Given the description of an element on the screen output the (x, y) to click on. 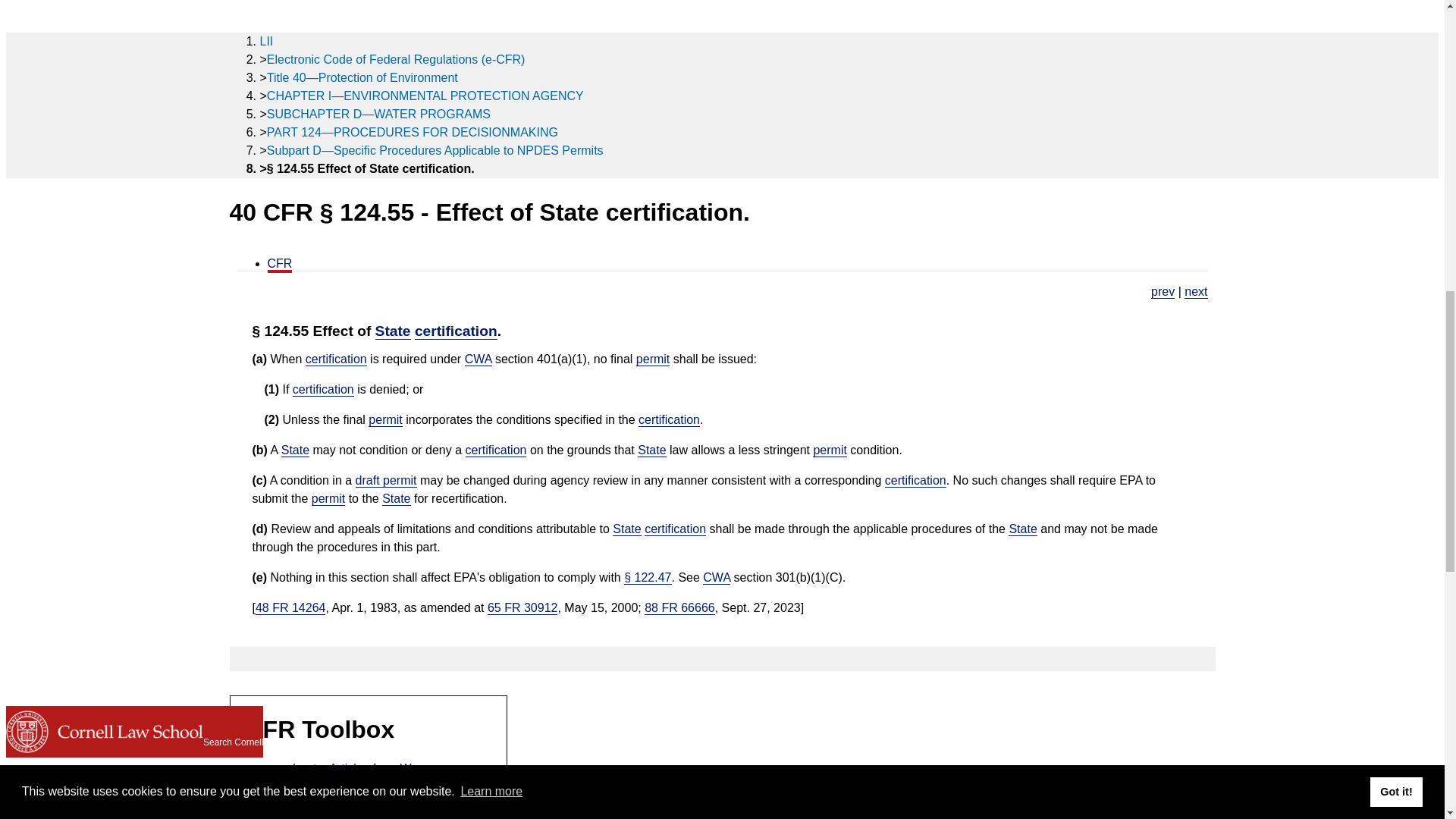
Lawyer directory (32, 82)
Get the law (45, 45)
Fact sheets. (1196, 291)
About LII (37, 20)
Legal encyclopedia (48, 131)
